Given the description of an element on the screen output the (x, y) to click on. 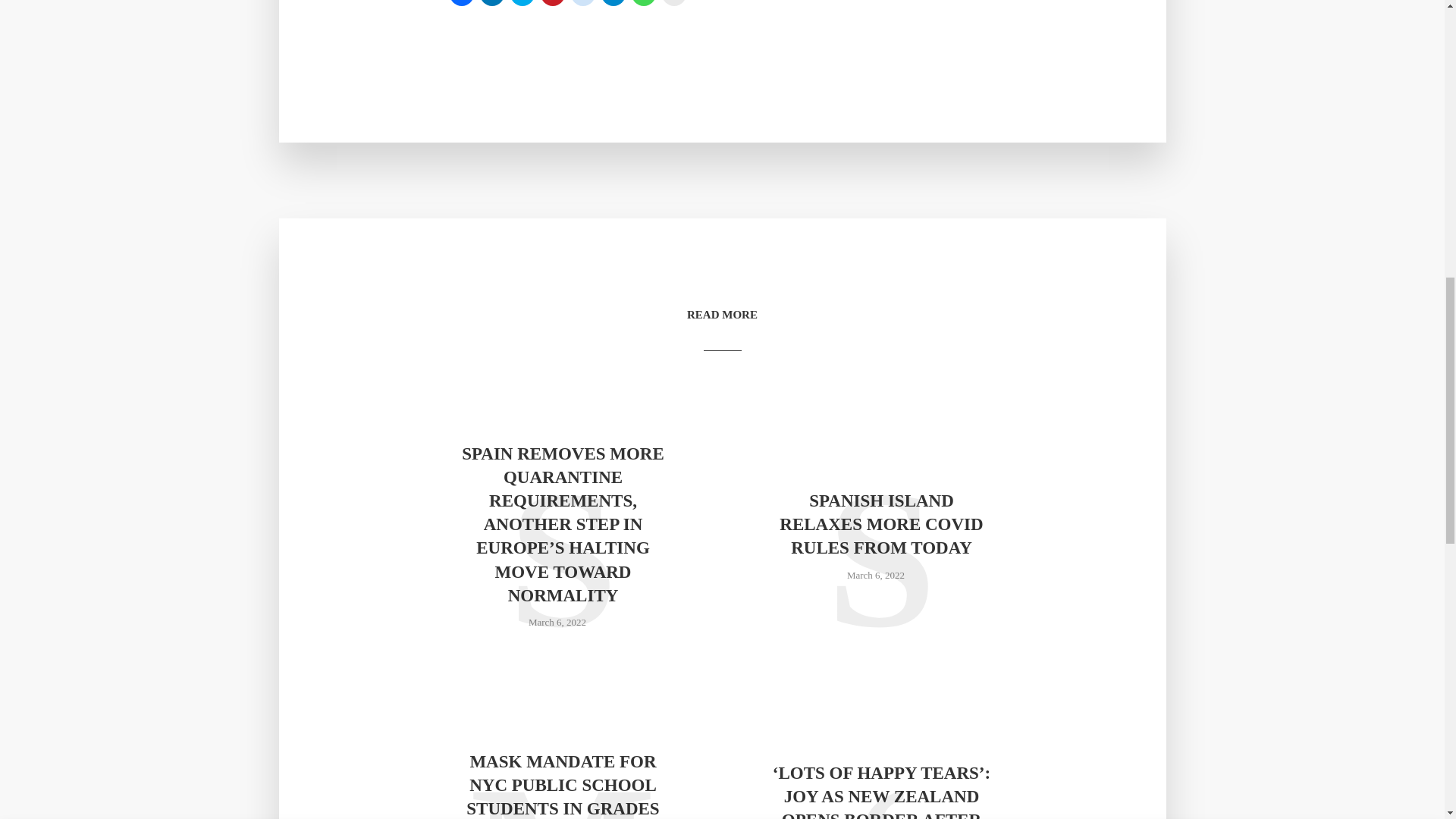
Click to share on Pinterest (552, 2)
Click to share on Facebook (460, 2)
Click to share on WhatsApp (642, 2)
Click to share on Telegram (611, 2)
Click to share on Twitter (521, 2)
Click to share on LinkedIn (491, 2)
Click to email a link to a friend (673, 2)
Click to share on Reddit (582, 2)
